Given the description of an element on the screen output the (x, y) to click on. 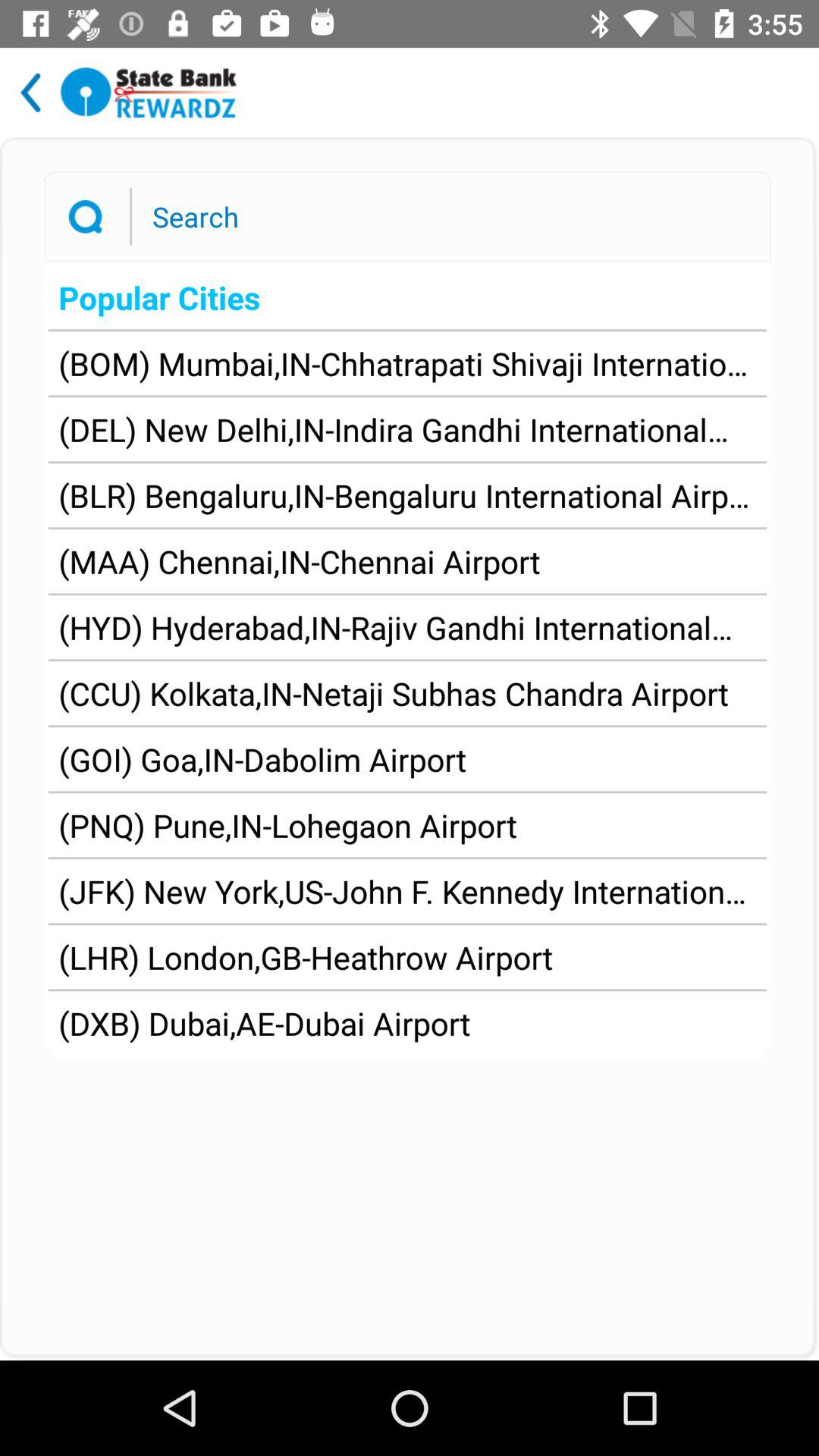
open goi goa in (262, 758)
